Given the description of an element on the screen output the (x, y) to click on. 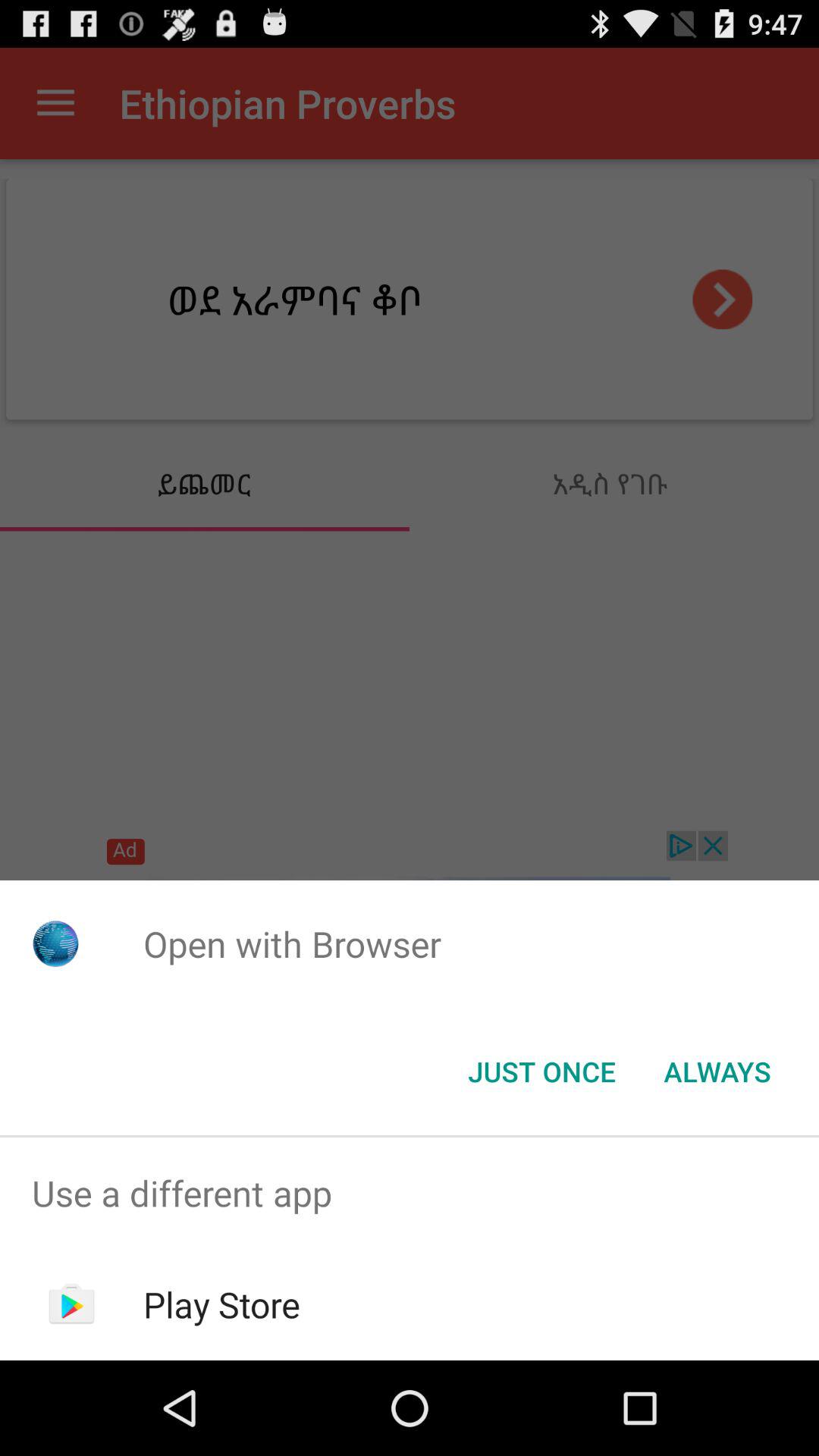
launch the item to the left of the always item (541, 1071)
